Given the description of an element on the screen output the (x, y) to click on. 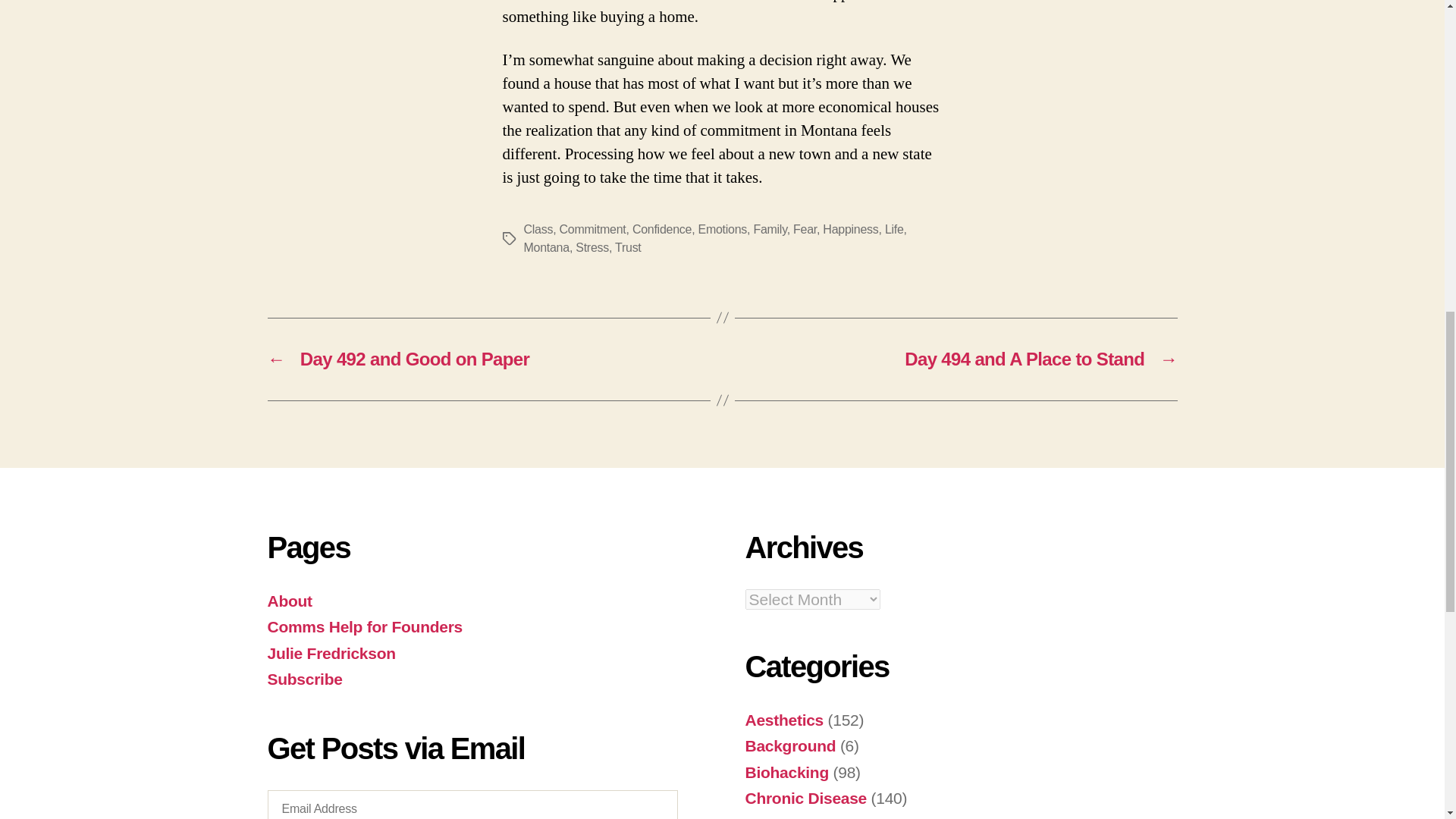
Comms Help for Founders (363, 626)
Commitment (592, 228)
Happiness (849, 228)
Trust (628, 246)
Stress (591, 246)
Subscribe (304, 678)
Montana (545, 246)
Class (537, 228)
Fear (804, 228)
Emotions (721, 228)
Family (769, 228)
Confidence (661, 228)
Life (894, 228)
About (288, 600)
Julie Fredrickson (330, 652)
